Given the description of an element on the screen output the (x, y) to click on. 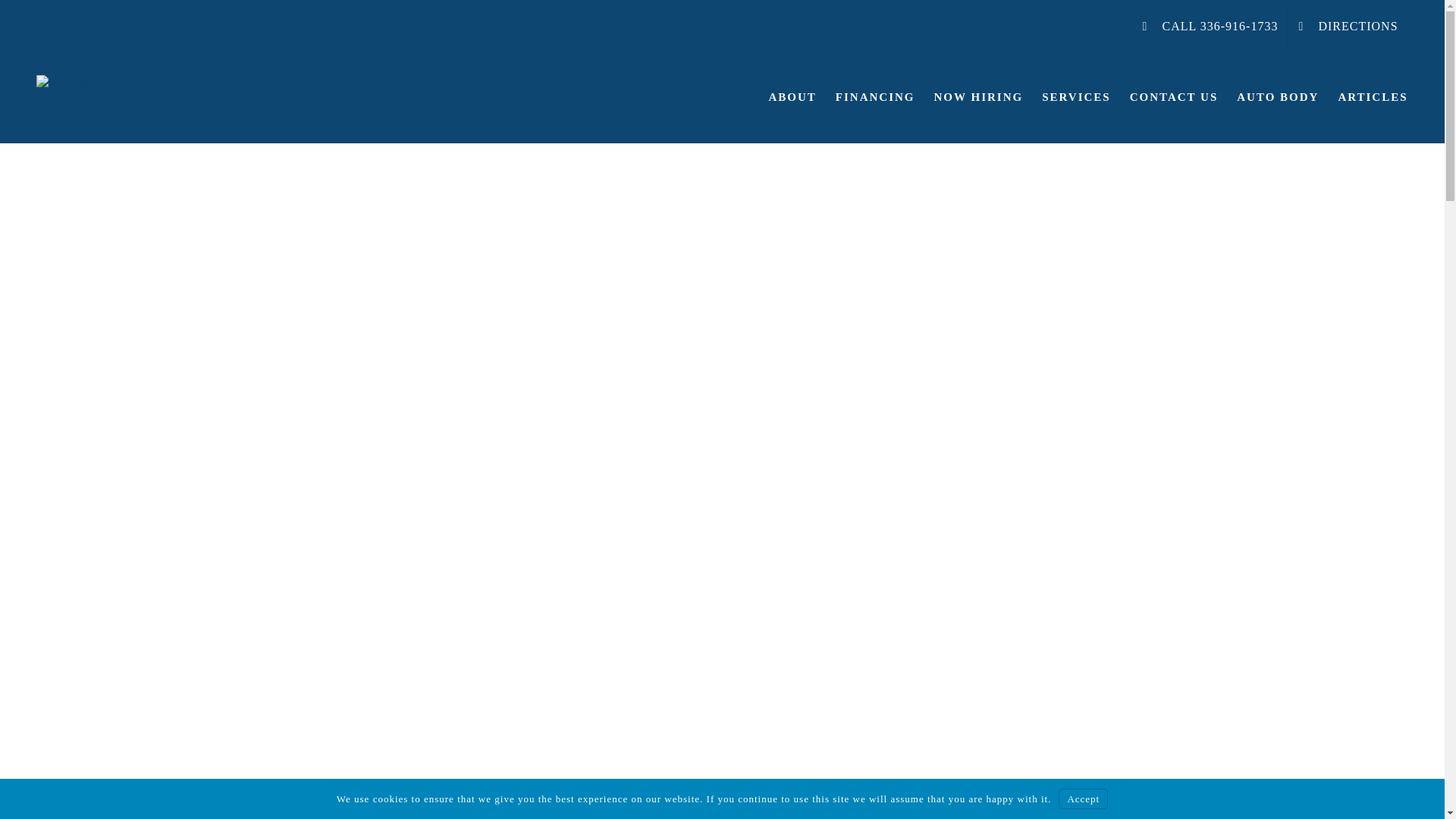
AUTO BODY (1277, 96)
CALL 336-916-1733 (1210, 26)
NOW HIRING (978, 96)
CONTACT US (1173, 96)
DIRECTIONS (1347, 26)
